Given the description of an element on the screen output the (x, y) to click on. 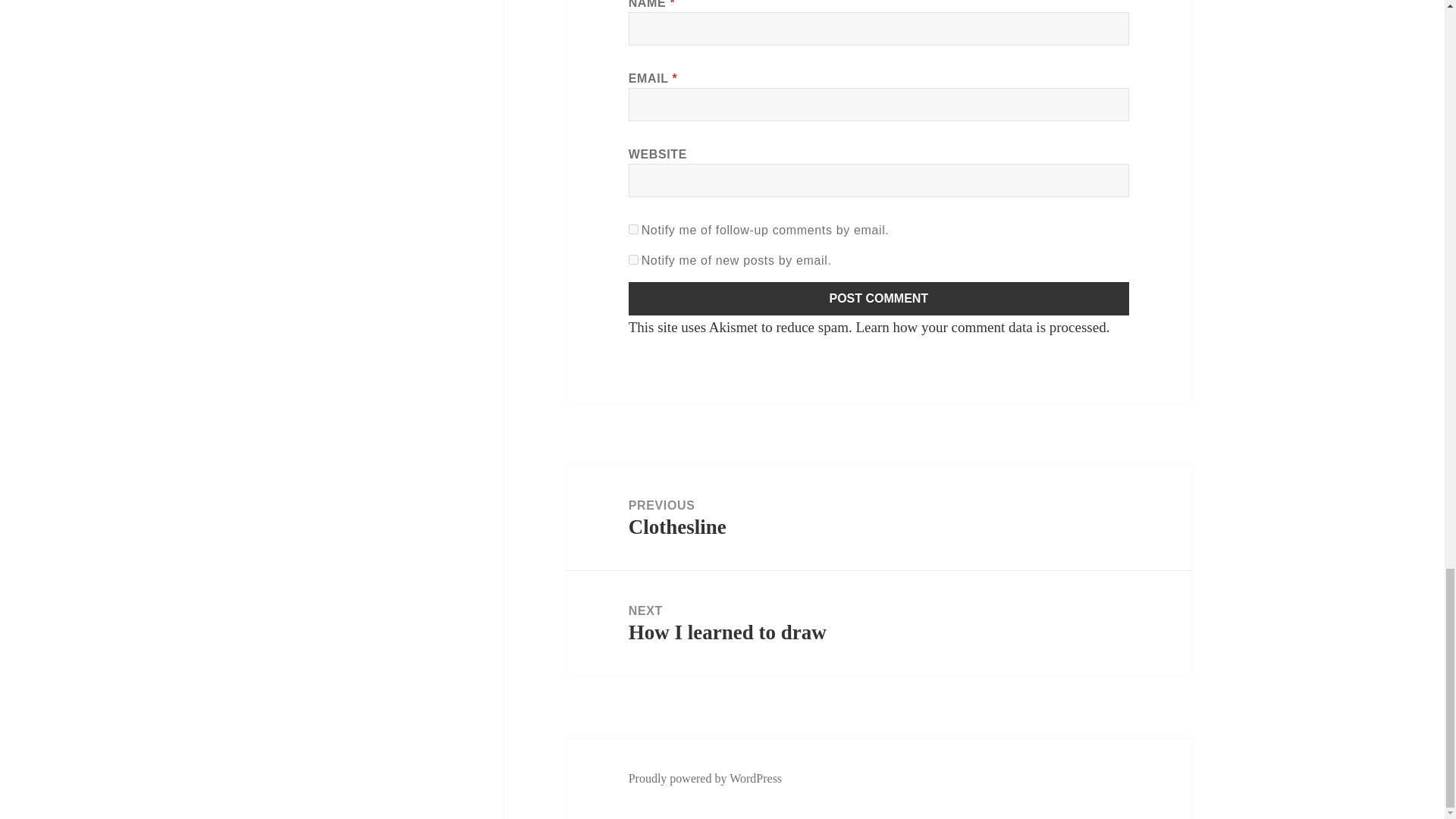
subscribe (633, 259)
Post Comment (878, 517)
Proudly powered by WordPress (878, 298)
Learn how your comment data is processed (878, 623)
subscribe (704, 778)
Post Comment (980, 326)
